Given the description of an element on the screen output the (x, y) to click on. 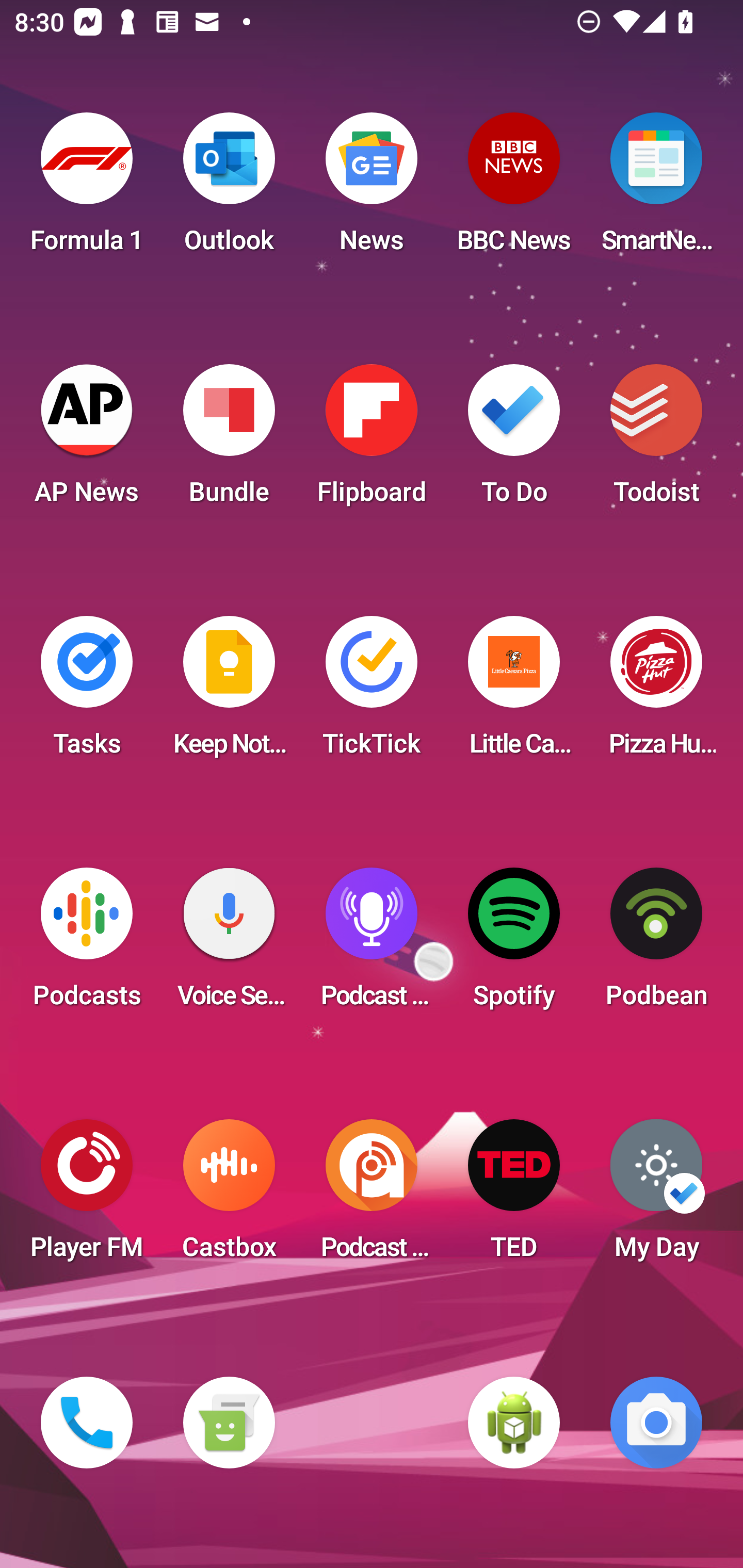
Formula 1 (86, 188)
Outlook (228, 188)
News (371, 188)
BBC News (513, 188)
SmartNews (656, 188)
AP News (86, 440)
Bundle (228, 440)
Flipboard (371, 440)
To Do (513, 440)
Todoist (656, 440)
Tasks (86, 692)
Keep Notes (228, 692)
TickTick (371, 692)
Little Caesars Pizza (513, 692)
Pizza Hut HK & Macau (656, 692)
Podcasts (86, 943)
Voice Search (228, 943)
Podcast Player (371, 943)
Spotify (513, 943)
Podbean (656, 943)
Player FM (86, 1195)
Castbox (228, 1195)
Podcast Addict (371, 1195)
TED (513, 1195)
My Day (656, 1195)
Phone (86, 1422)
Messaging (228, 1422)
WebView Browser Tester (513, 1422)
Camera (656, 1422)
